Given the description of an element on the screen output the (x, y) to click on. 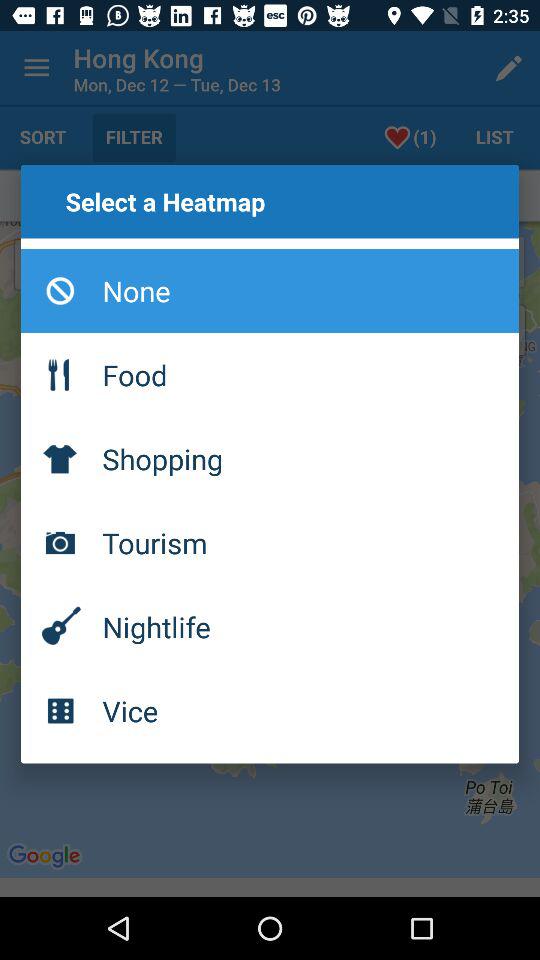
turn on the icon at the bottom (270, 710)
